Given the description of an element on the screen output the (x, y) to click on. 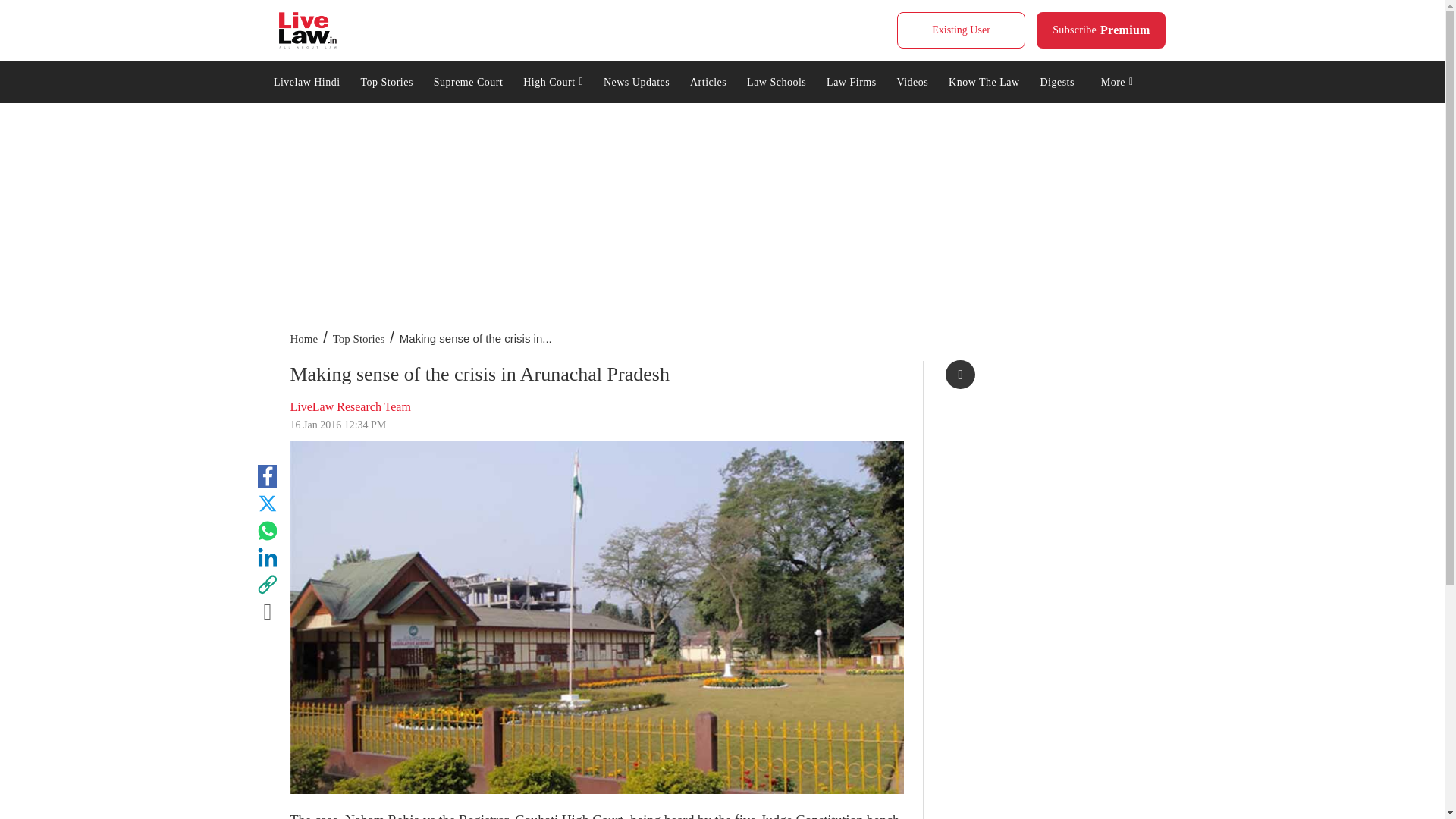
Live Law (307, 30)
Supreme Court (467, 80)
Livelaw Hindi (1101, 30)
Making sense of the crisis in Arunachal Pradesh (306, 80)
High Court (386, 80)
Existing User (553, 80)
